Given the description of an element on the screen output the (x, y) to click on. 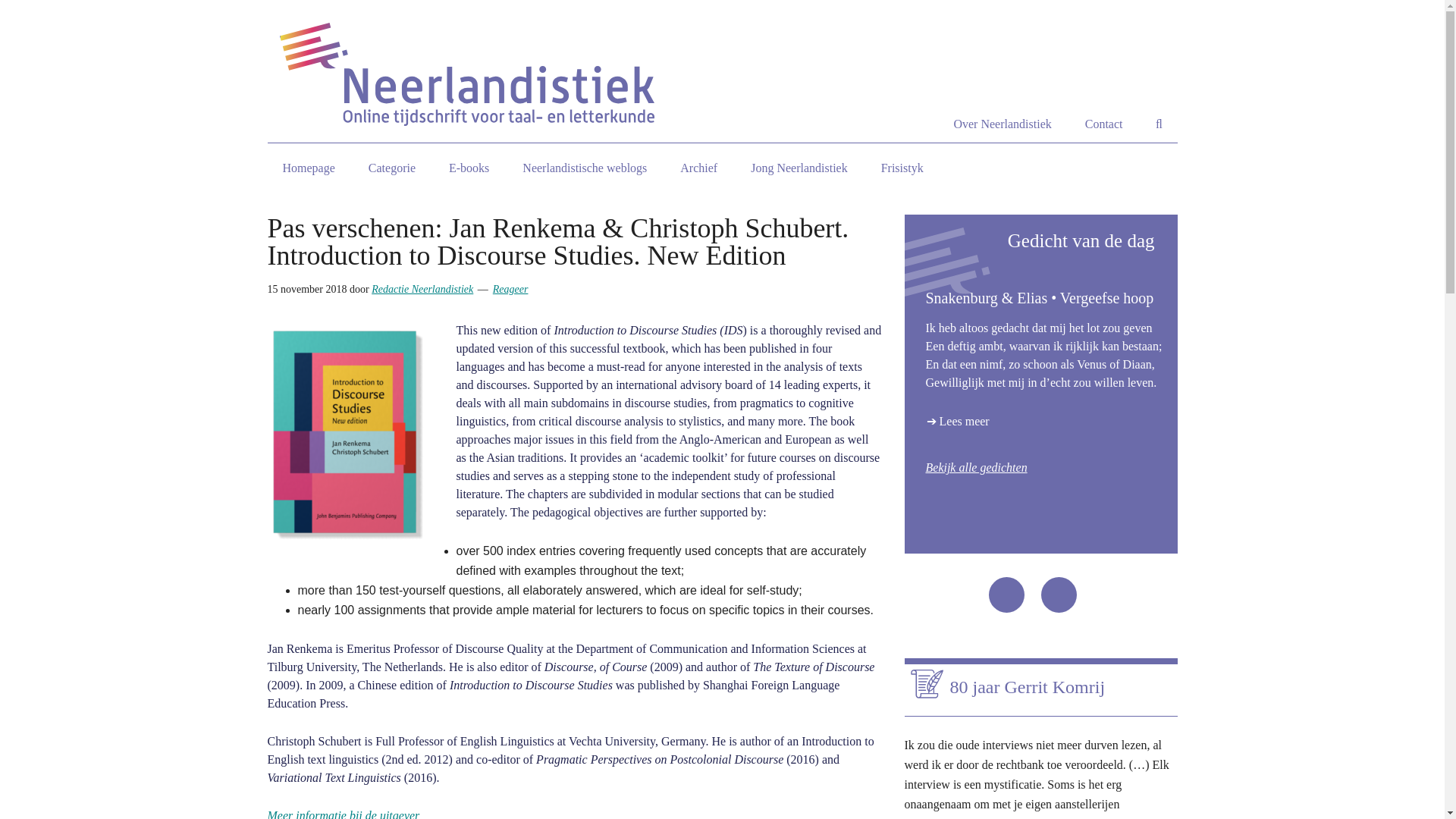
Archief (698, 168)
Neerlandistische weblogs (584, 168)
Reageer (510, 288)
Over Neerlandistiek (1001, 124)
Homepage (307, 168)
E-books (468, 168)
Frisistyk (902, 168)
Categorie (391, 168)
Jong Neerlandistiek (799, 168)
Redactie Neerlandistiek (422, 288)
Meer informatie bij de uitgever (342, 814)
Contact (1104, 124)
